Given the description of an element on the screen output the (x, y) to click on. 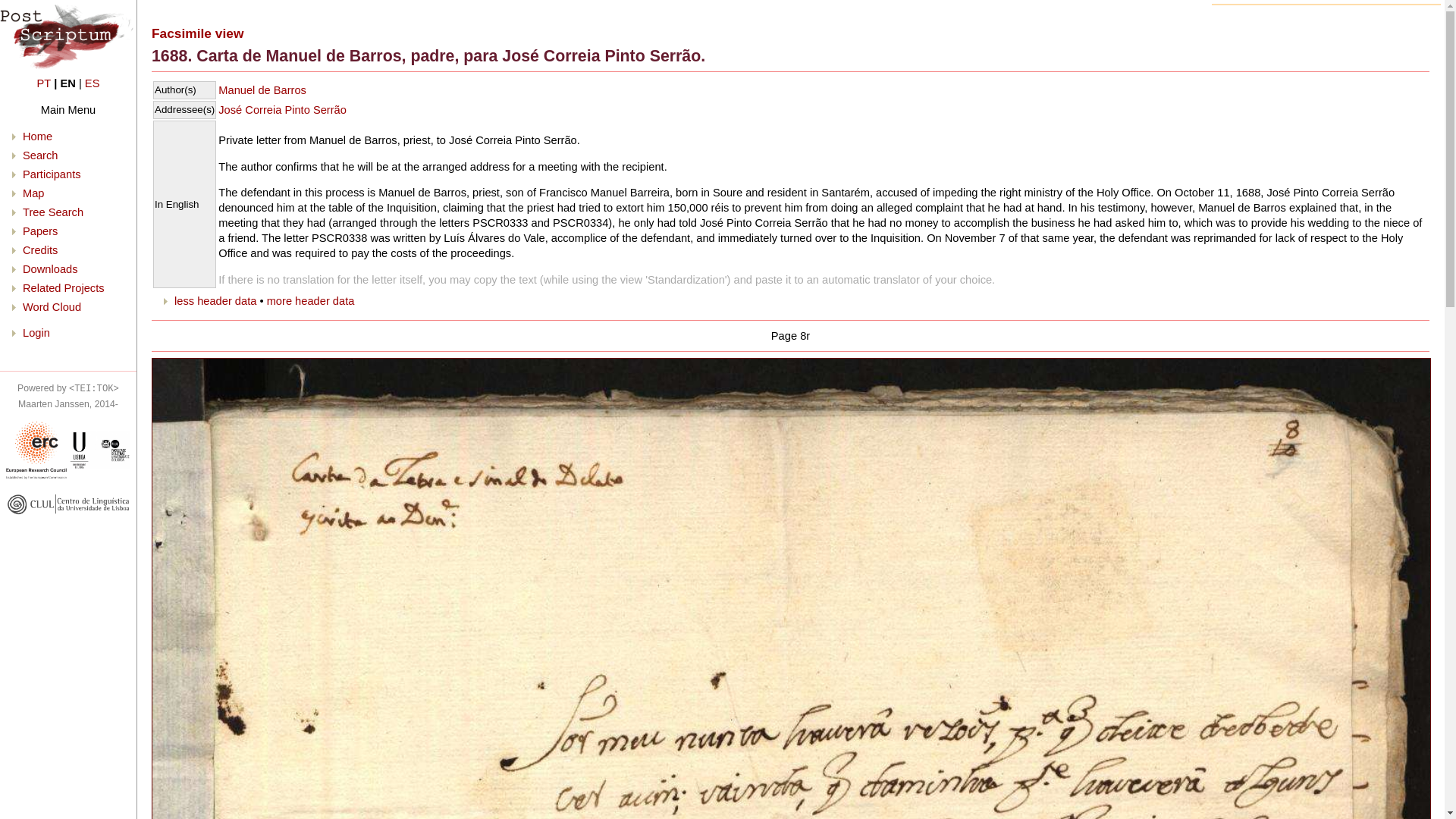
Map (34, 193)
more header data (310, 300)
less header data (215, 300)
Home (37, 136)
ES (92, 82)
Papers (40, 231)
Downloads (50, 268)
Search (40, 155)
Tree Search (52, 212)
Related Projects (63, 287)
PT (43, 82)
Manuel de Barros       (271, 90)
Credits (40, 250)
Login (36, 332)
Word Cloud (52, 306)
